Given the description of an element on the screen output the (x, y) to click on. 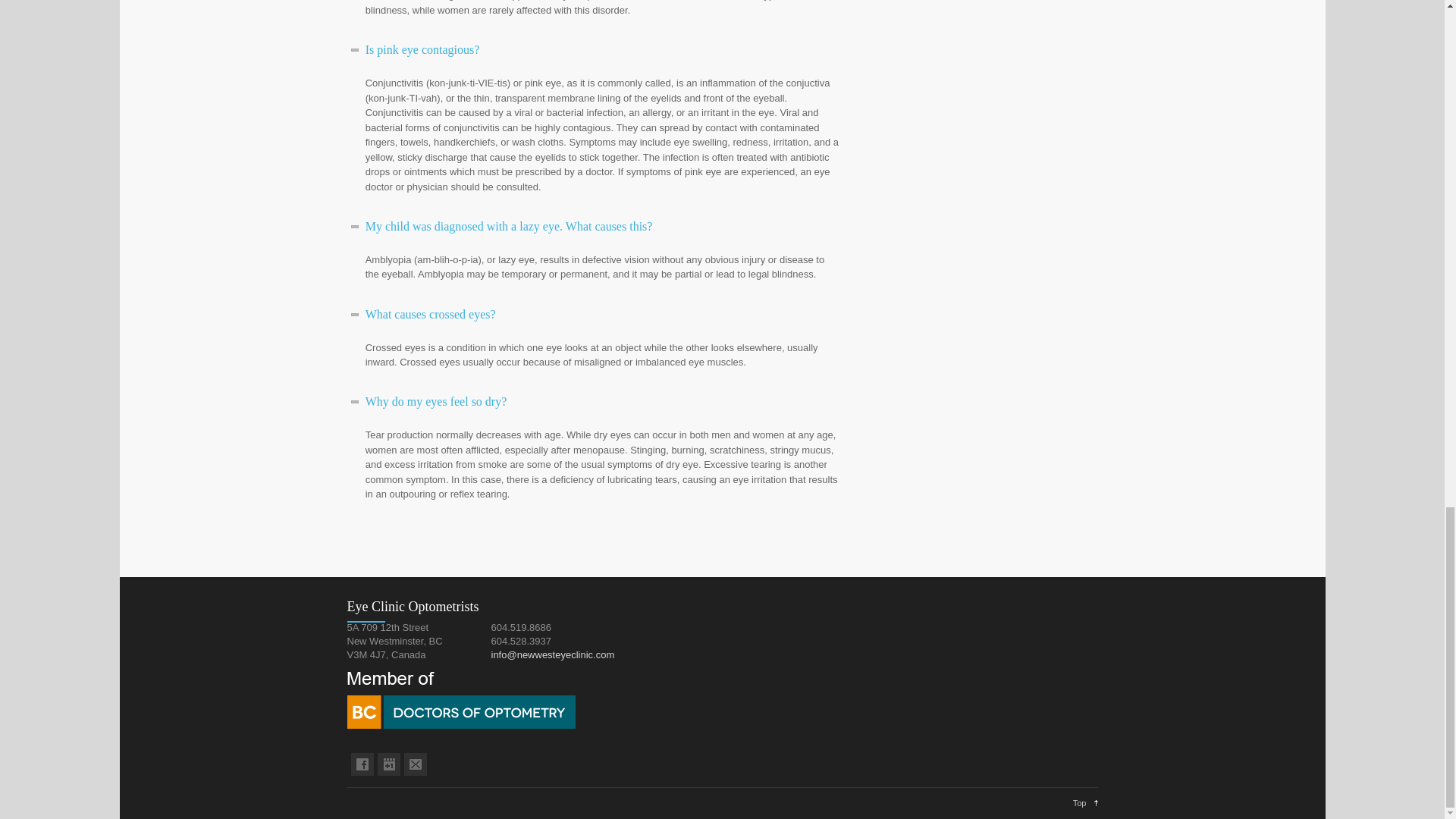
Top (1085, 802)
Scroll to top (1085, 802)
Top (1085, 802)
Send Email (553, 654)
